Given the description of an element on the screen output the (x, y) to click on. 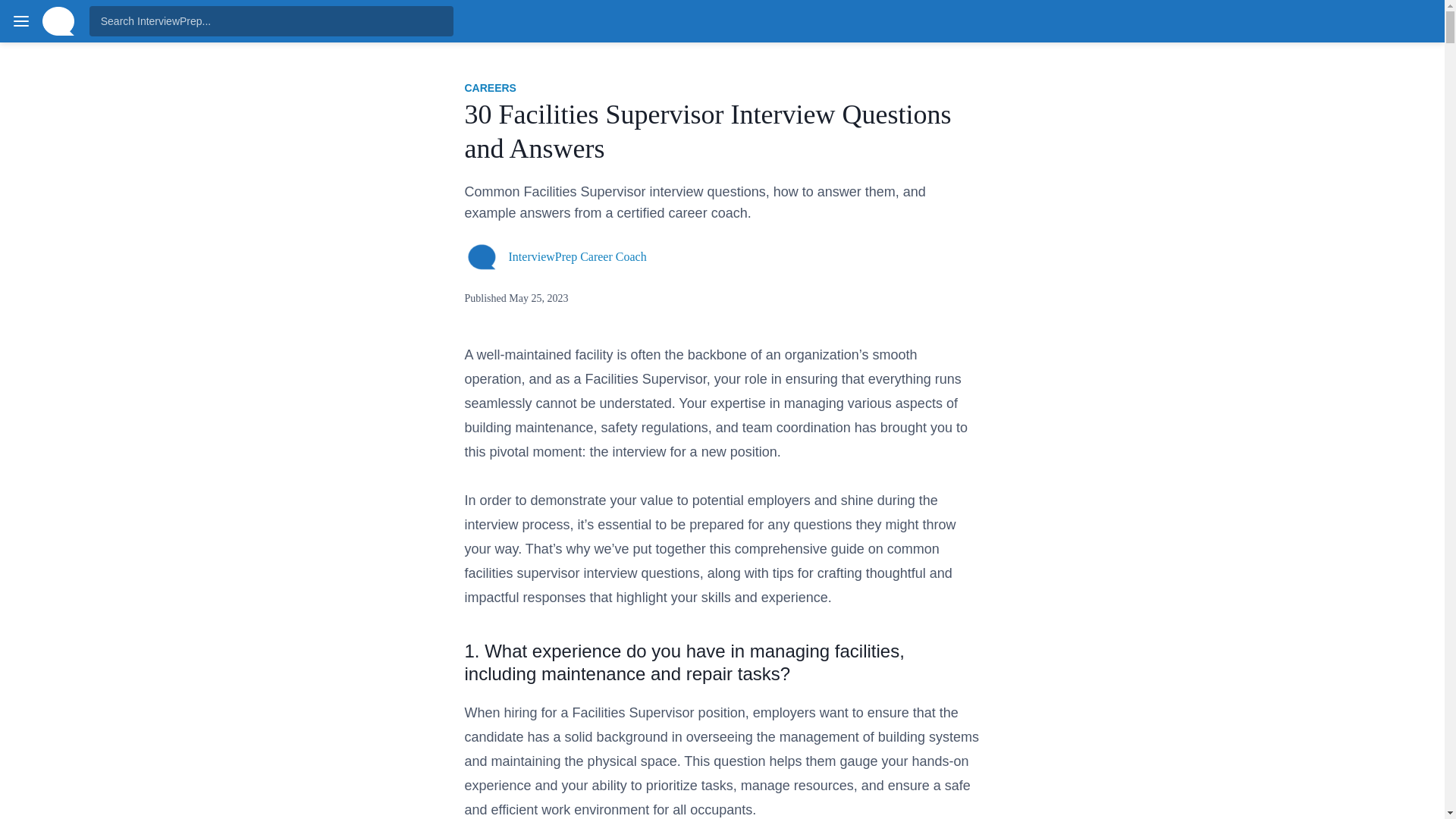
CAREERS (489, 87)
InterviewPrep Career Coach (577, 256)
